Given the description of an element on the screen output the (x, y) to click on. 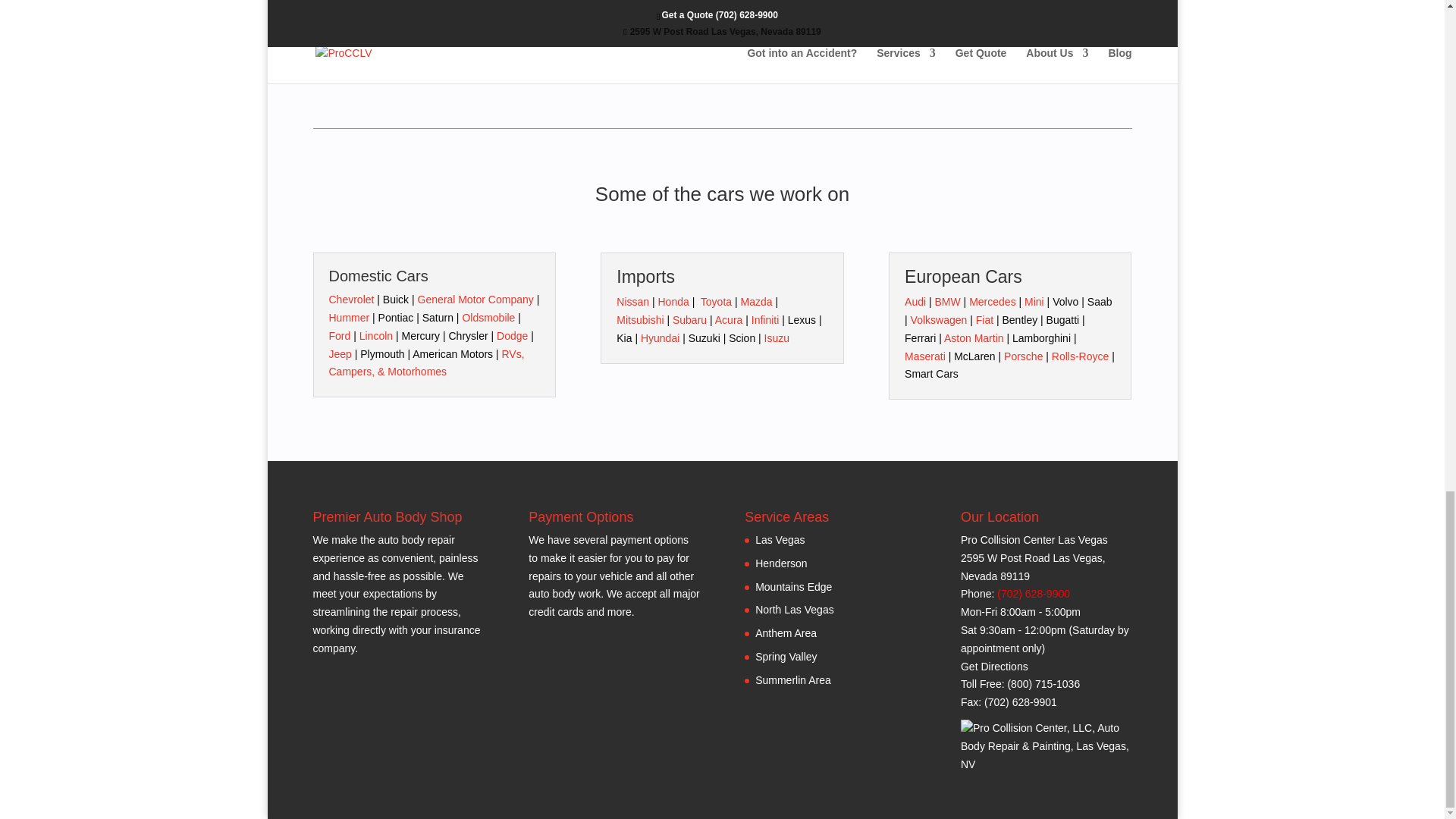
Oldsmobile Body Shop (488, 317)
Toyota (716, 301)
Ford Body Shop (339, 336)
Ford (339, 336)
Subaru Body Shop (689, 319)
Jeep Body Shop (340, 354)
Certified Nissan Body Shop (632, 301)
GMC Body Shop (474, 299)
Mazda (755, 301)
Honda (673, 301)
Oldsmobile (488, 317)
Subaru (689, 319)
Honda Body Shop (673, 301)
Mitsubishi (639, 319)
Nissan (632, 301)
